Given the description of an element on the screen output the (x, y) to click on. 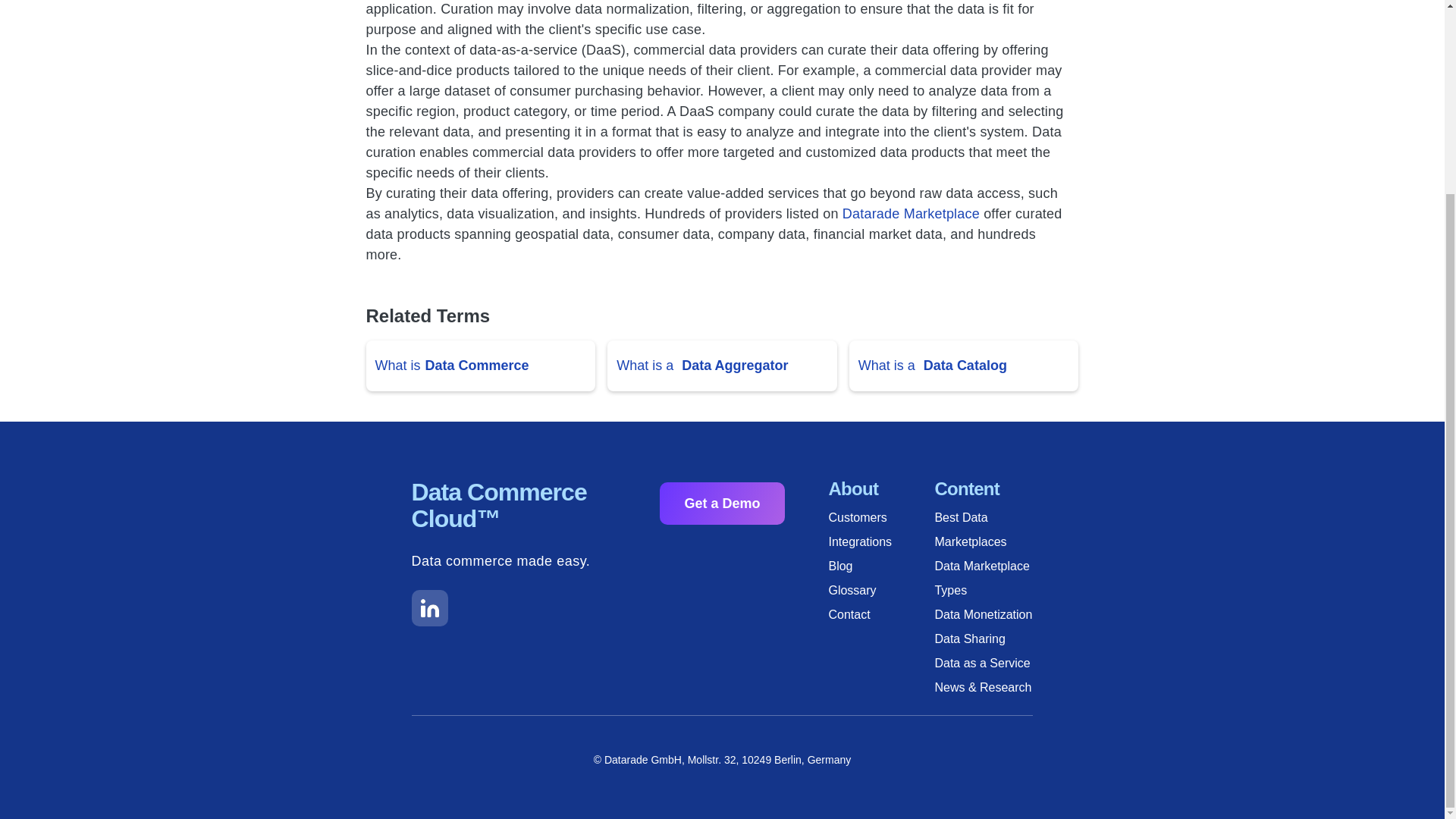
Get a Demo (721, 503)
Datarade Marketplace (911, 213)
Data Sharing (987, 639)
Contact (881, 614)
Glossary (881, 590)
Best Data Marketplaces (987, 530)
Data as a Service (987, 663)
Data Monetization (987, 614)
Data Aggregator (734, 365)
Integrations (881, 541)
Data Marketplace Types (987, 578)
Data Commerce (477, 365)
Customers (881, 517)
Data Catalog (965, 365)
Blog (881, 566)
